Given the description of an element on the screen output the (x, y) to click on. 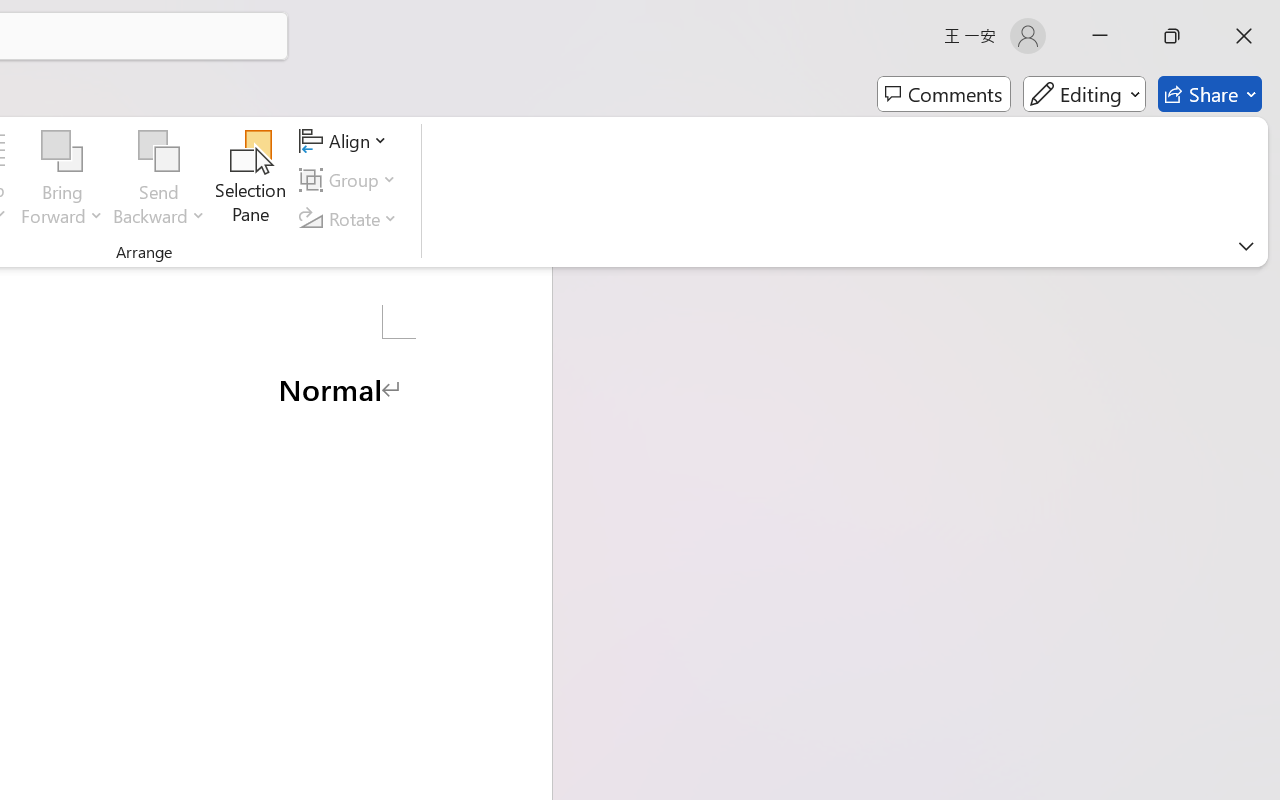
Selection Pane... (251, 179)
Rotate (351, 218)
Align (346, 141)
Send Backward (159, 151)
Bring Forward (62, 151)
Bring Forward (62, 179)
Group (351, 179)
